Given the description of an element on the screen output the (x, y) to click on. 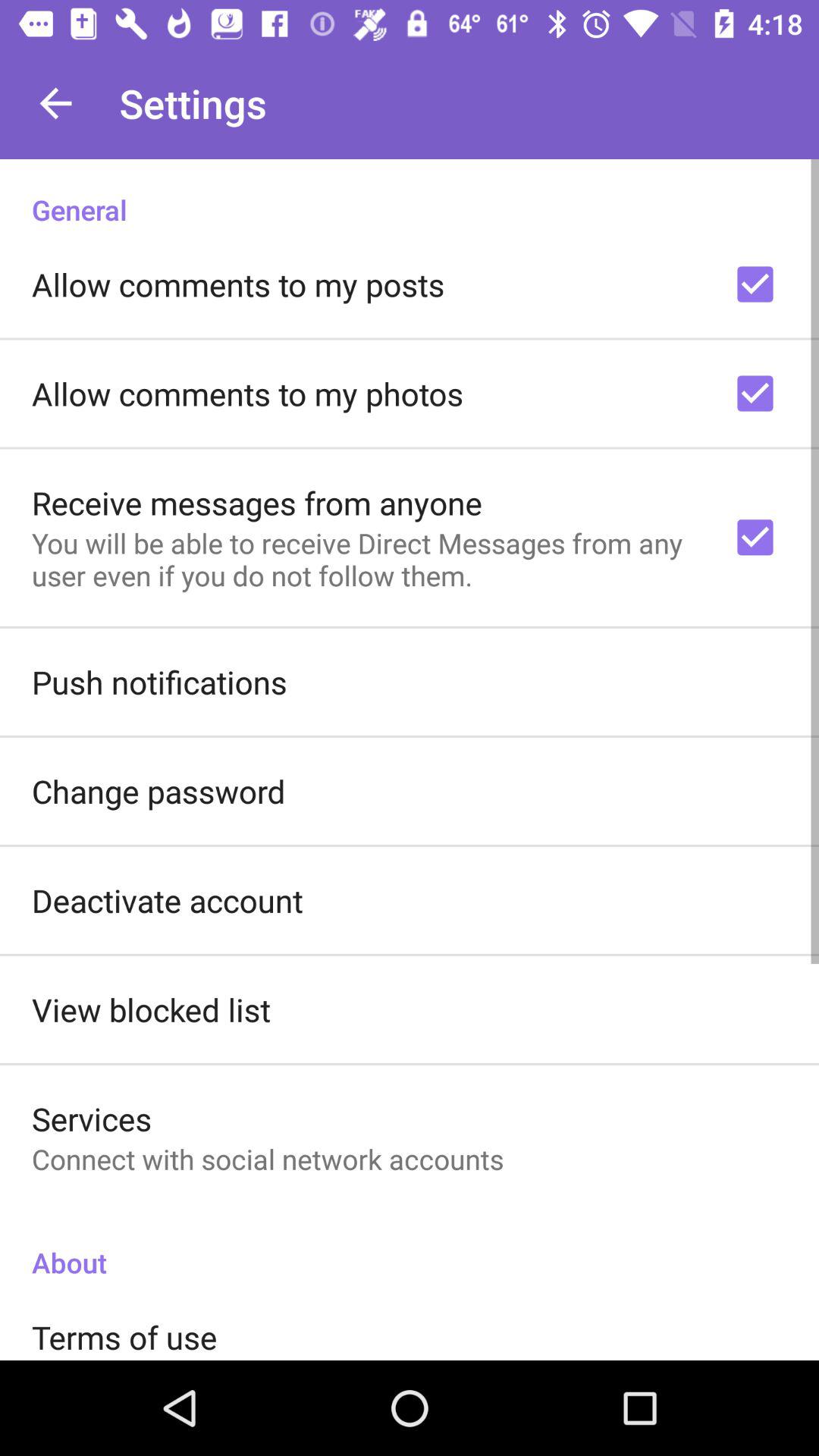
click the icon below connect with social item (409, 1246)
